Given the description of an element on the screen output the (x, y) to click on. 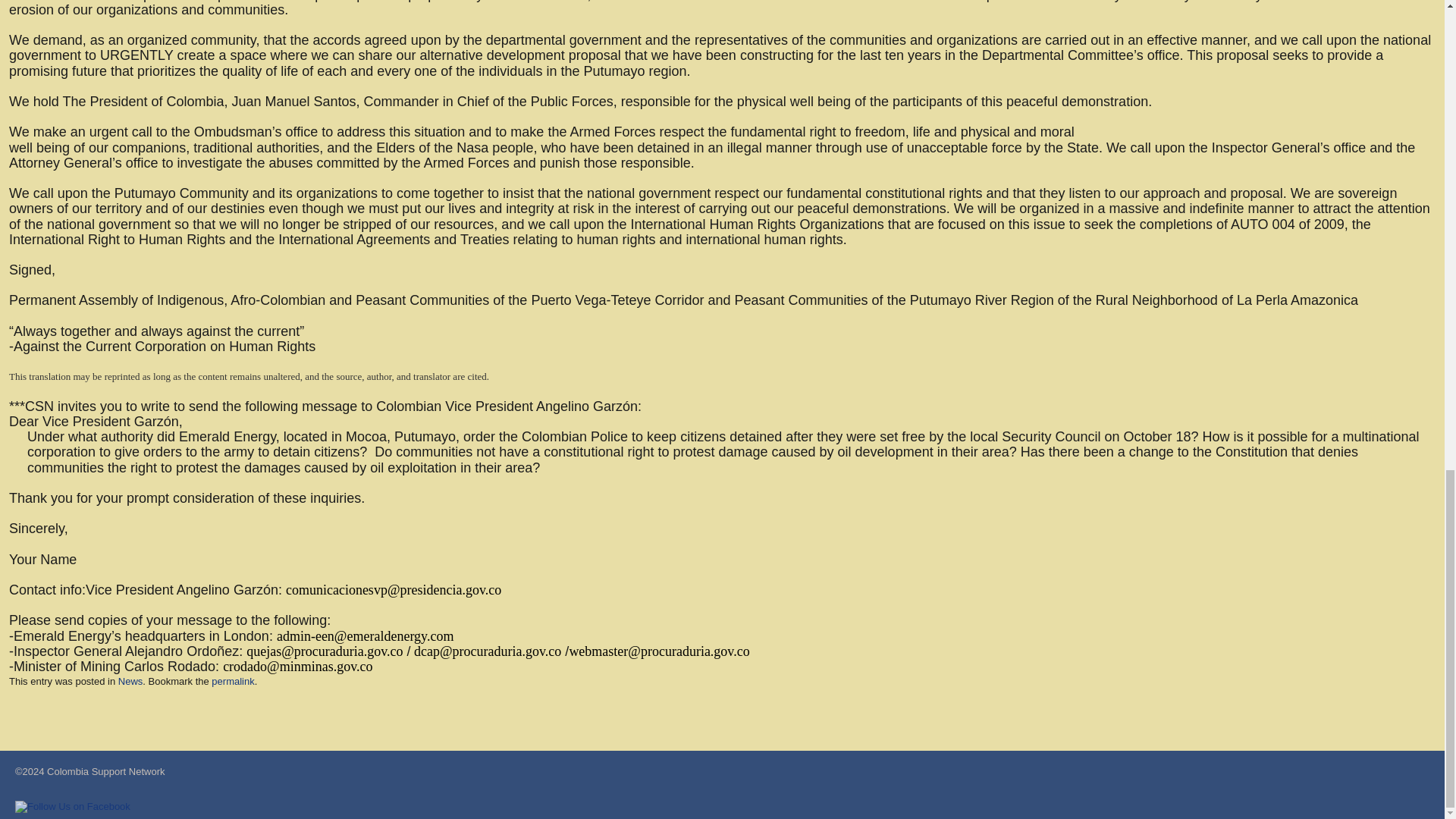
Follow Us on Facebook (72, 806)
News (129, 681)
permalink (232, 681)
